Given the description of an element on the screen output the (x, y) to click on. 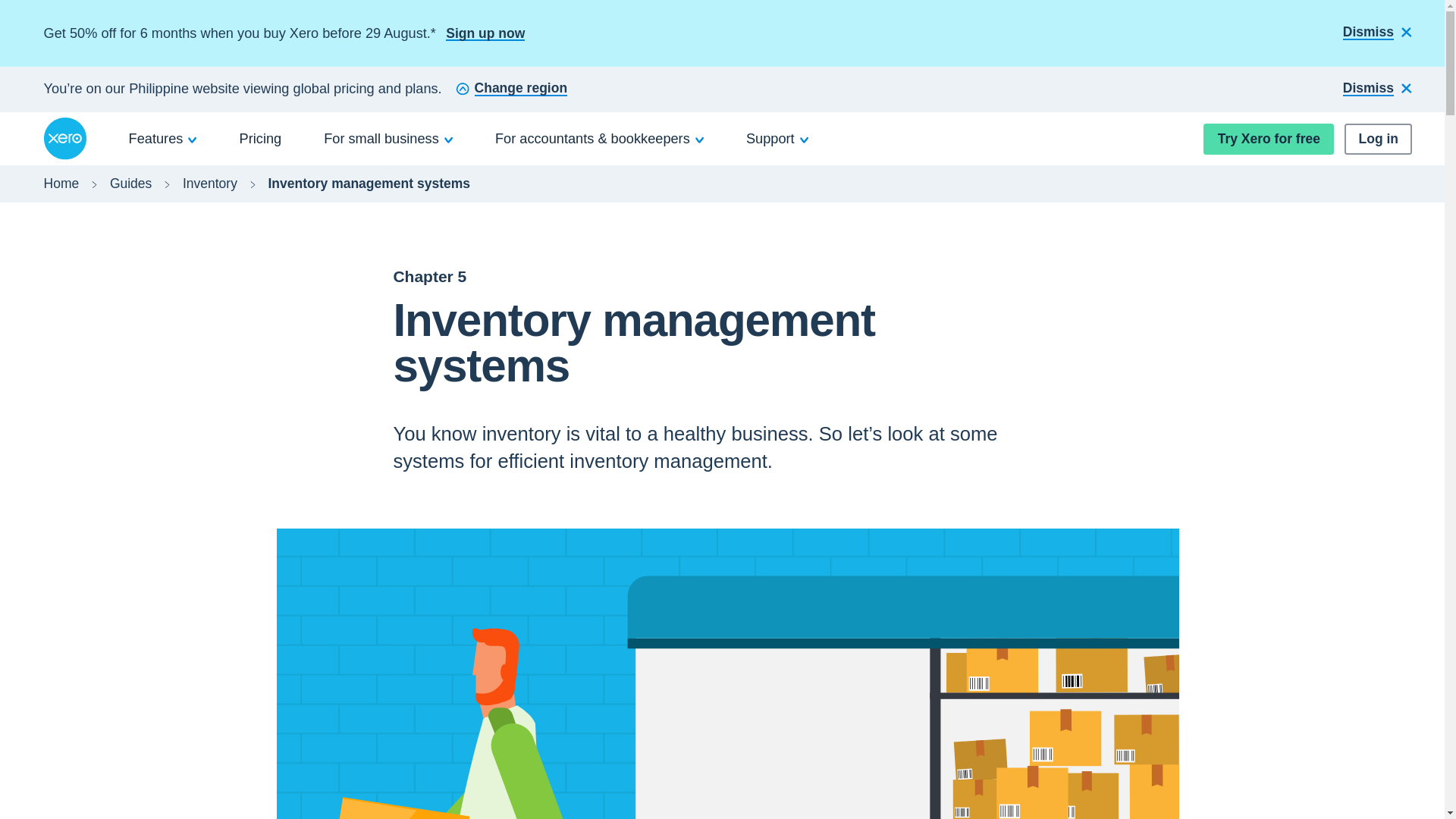
Dismiss (1377, 89)
Inventory (210, 183)
Try Xero for free (1268, 138)
For small business (388, 138)
Change region (511, 89)
Home (61, 183)
Log in (1377, 138)
Inventory management systems (368, 183)
Sign up now (484, 32)
Pricing (260, 138)
